Given the description of an element on the screen output the (x, y) to click on. 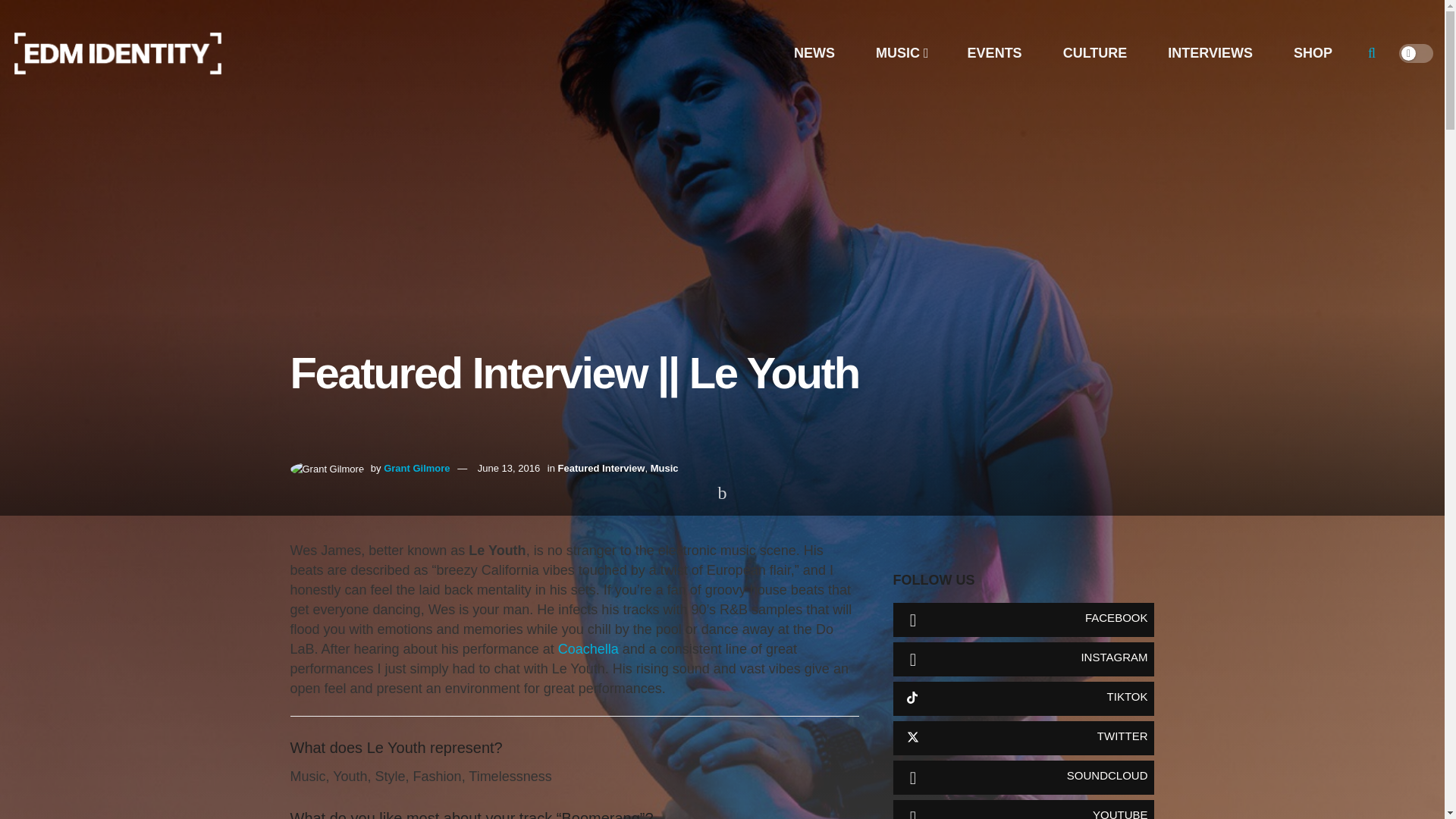
INTERVIEWS (1210, 53)
June 13, 2016 (508, 468)
EVENTS (994, 53)
MUSIC (901, 53)
Featured Interview (601, 468)
Music (664, 468)
Coachella (590, 648)
CULTURE (1095, 53)
SHOP (1312, 53)
NEWS (814, 53)
